Given the description of an element on the screen output the (x, y) to click on. 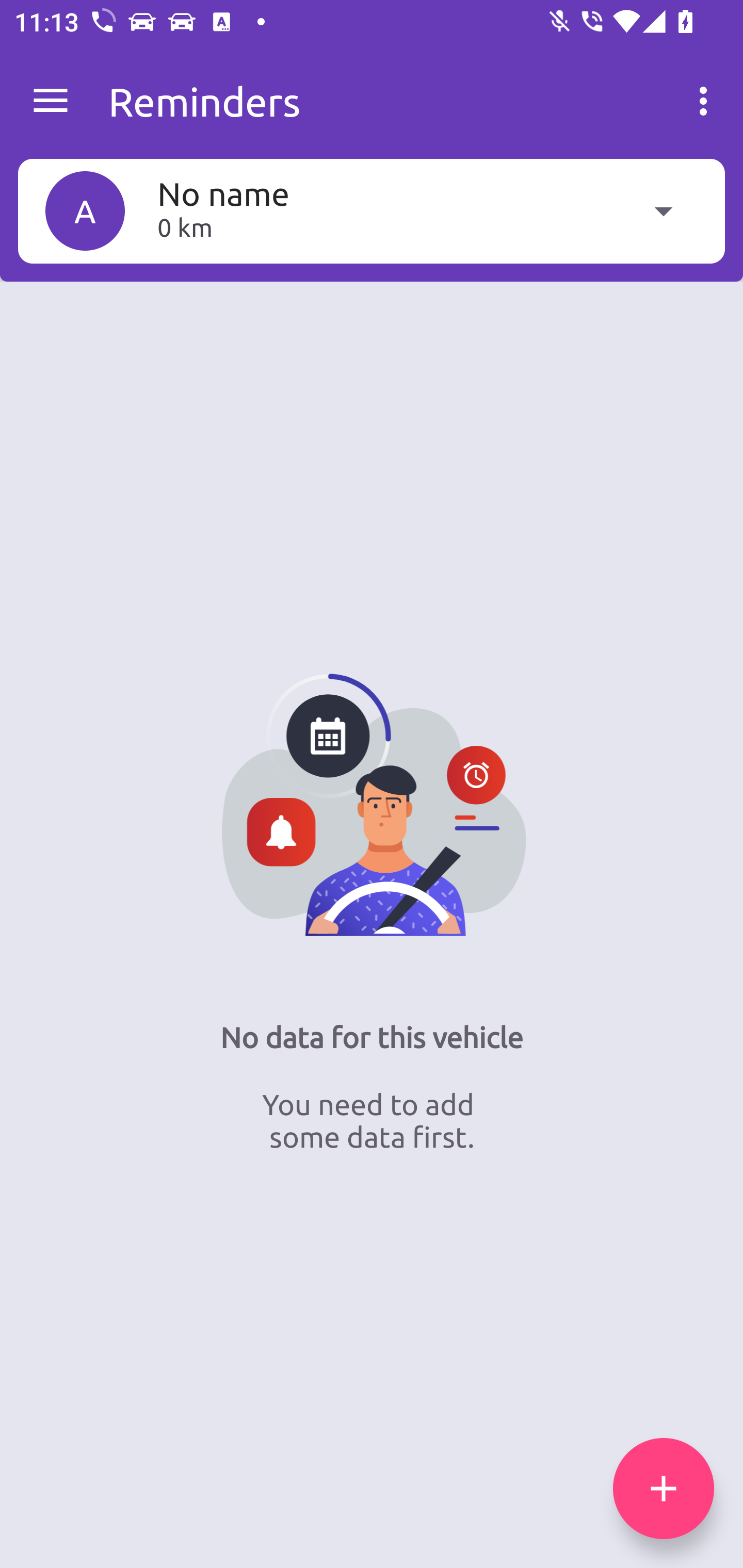
Fuelio (50, 101)
More options (706, 101)
A No name 0 km (371, 210)
